Given the description of an element on the screen output the (x, y) to click on. 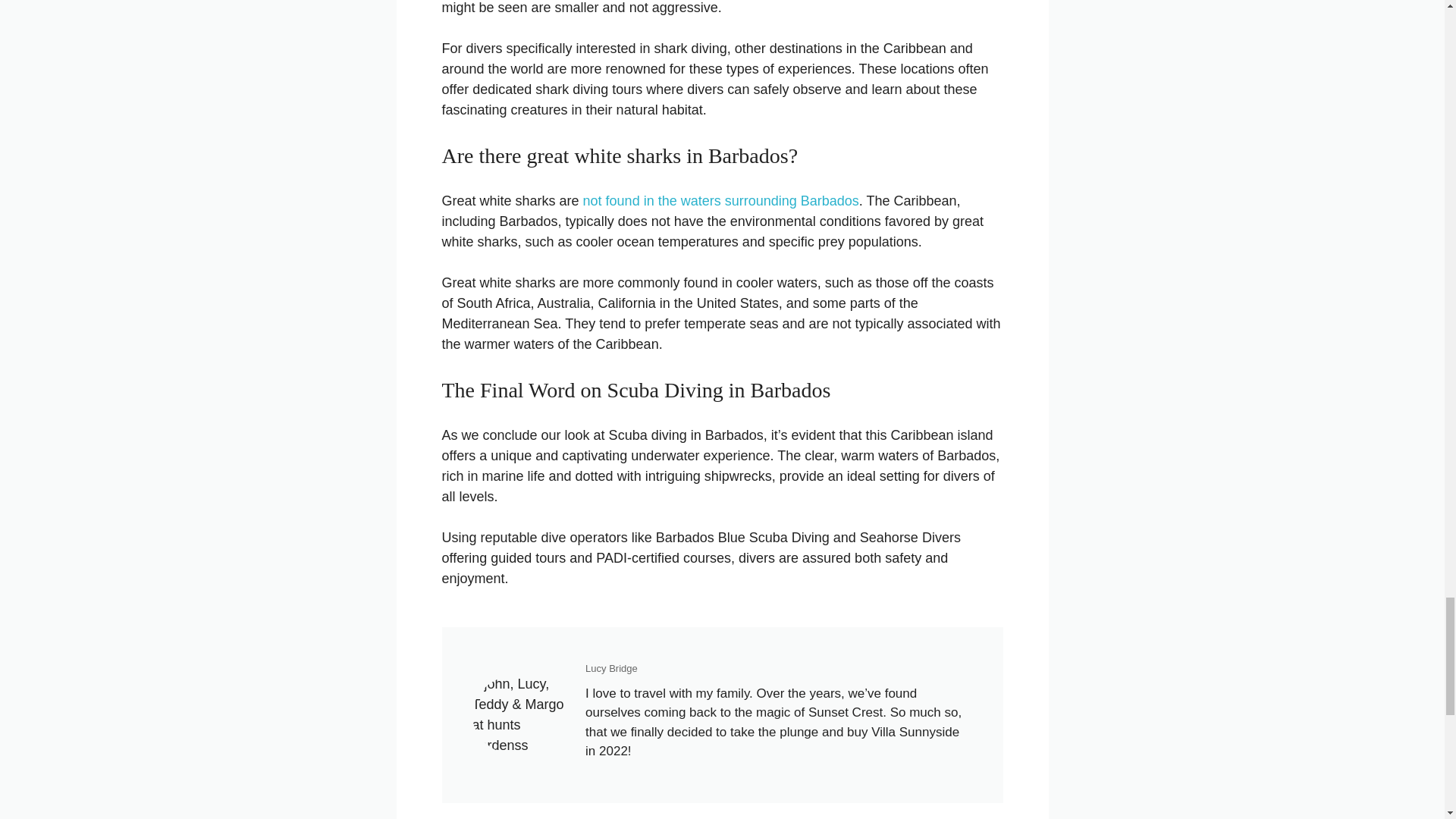
not found in the waters surrounding Barbados (721, 200)
John-Lucy-Teddy-and-margo-1 (520, 714)
